Given the description of an element on the screen output the (x, y) to click on. 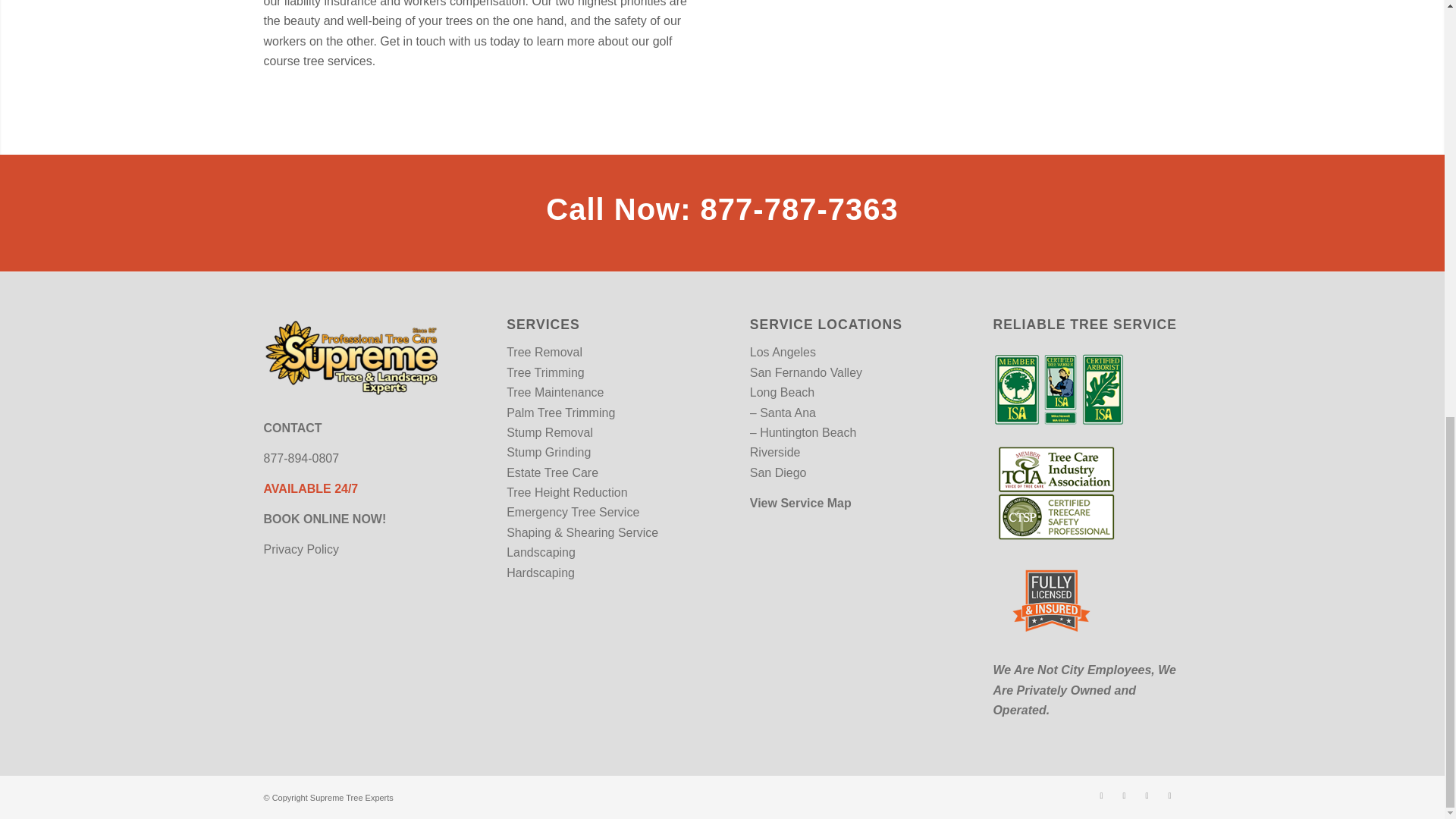
Linkedin (1169, 794)
Facebook (1101, 794)
Twitter (1124, 794)
Instagram (1146, 794)
